Given the description of an element on the screen output the (x, y) to click on. 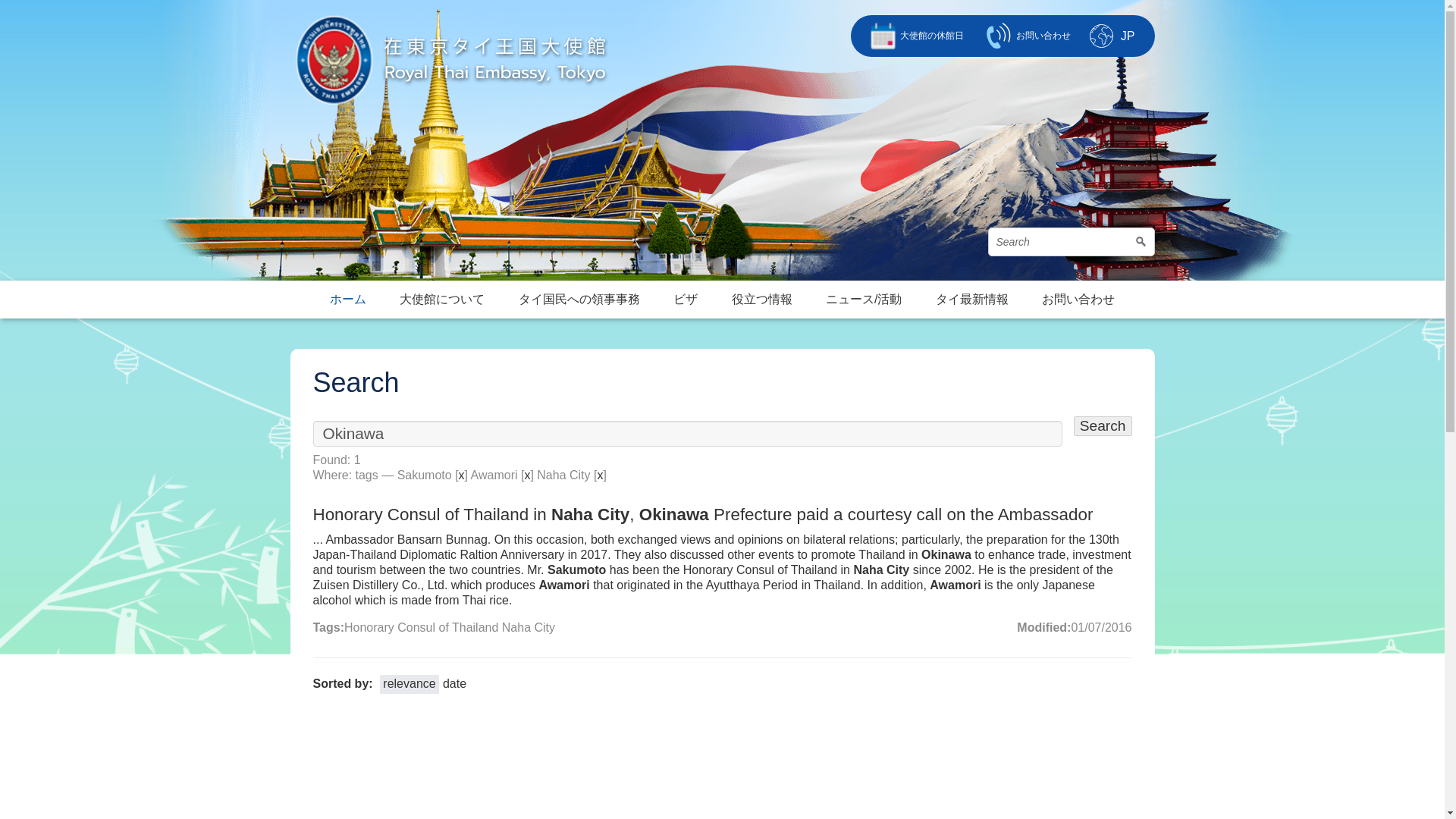
Search (1070, 241)
Search (1103, 425)
Search (1070, 241)
Search (1103, 425)
JP (1128, 35)
Okinawa (687, 433)
Okinawa (687, 433)
